Given the description of an element on the screen output the (x, y) to click on. 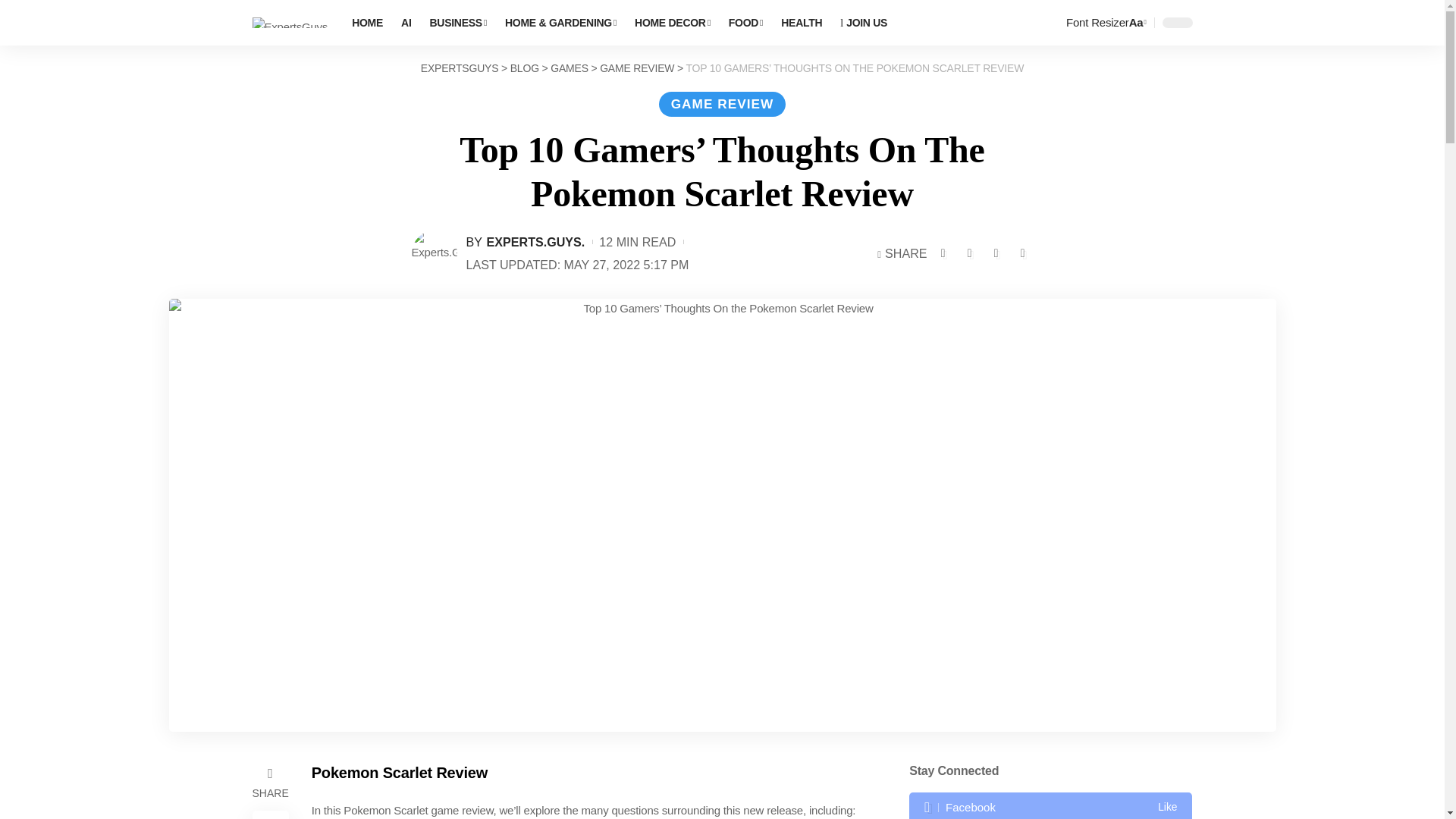
BUSINESS (458, 22)
HOME DECOR (672, 22)
HOME (366, 22)
ExpertsGuys (289, 22)
